Given the description of an element on the screen output the (x, y) to click on. 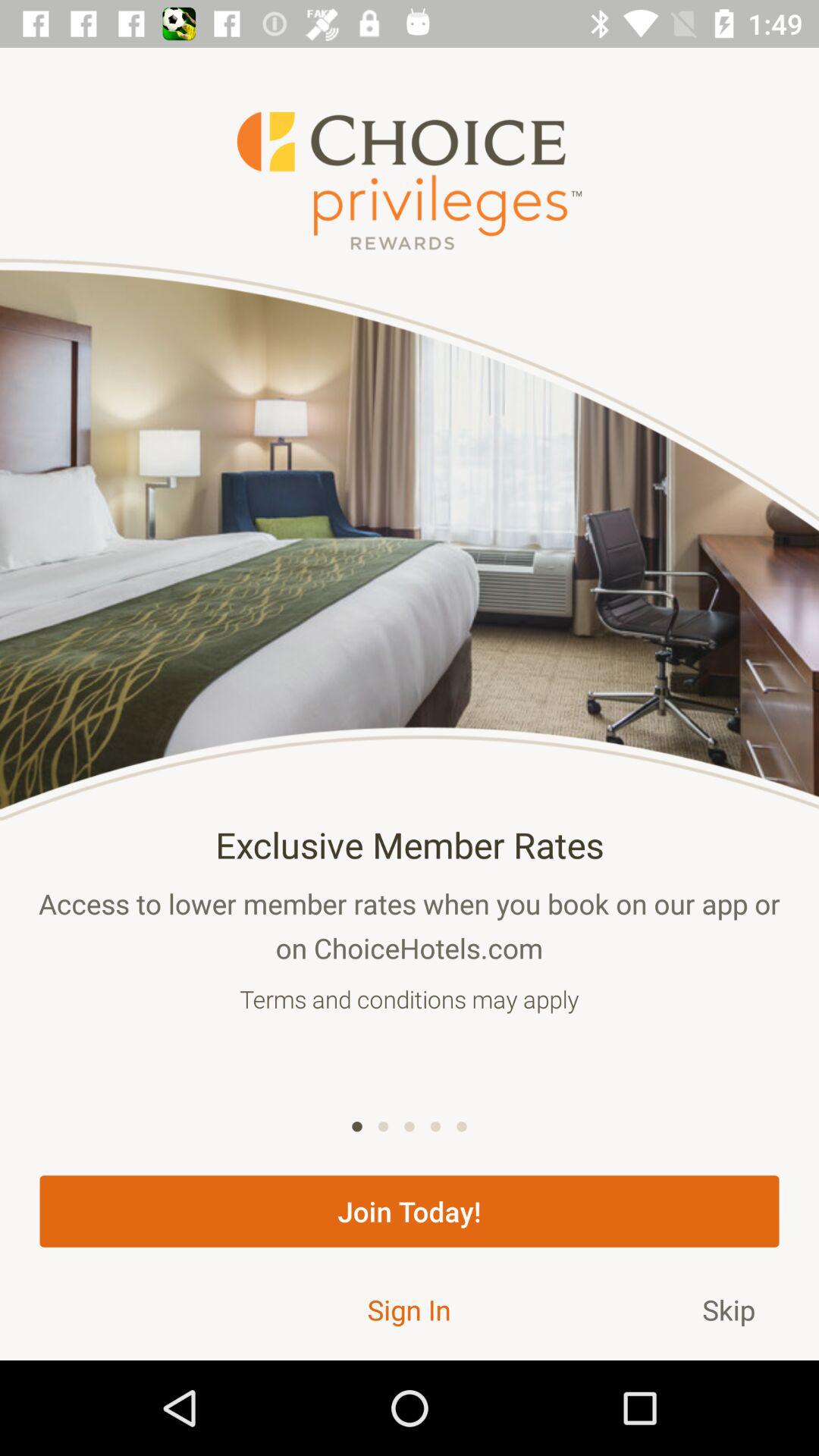
turn off the icon next to skip (408, 1309)
